Given the description of an element on the screen output the (x, y) to click on. 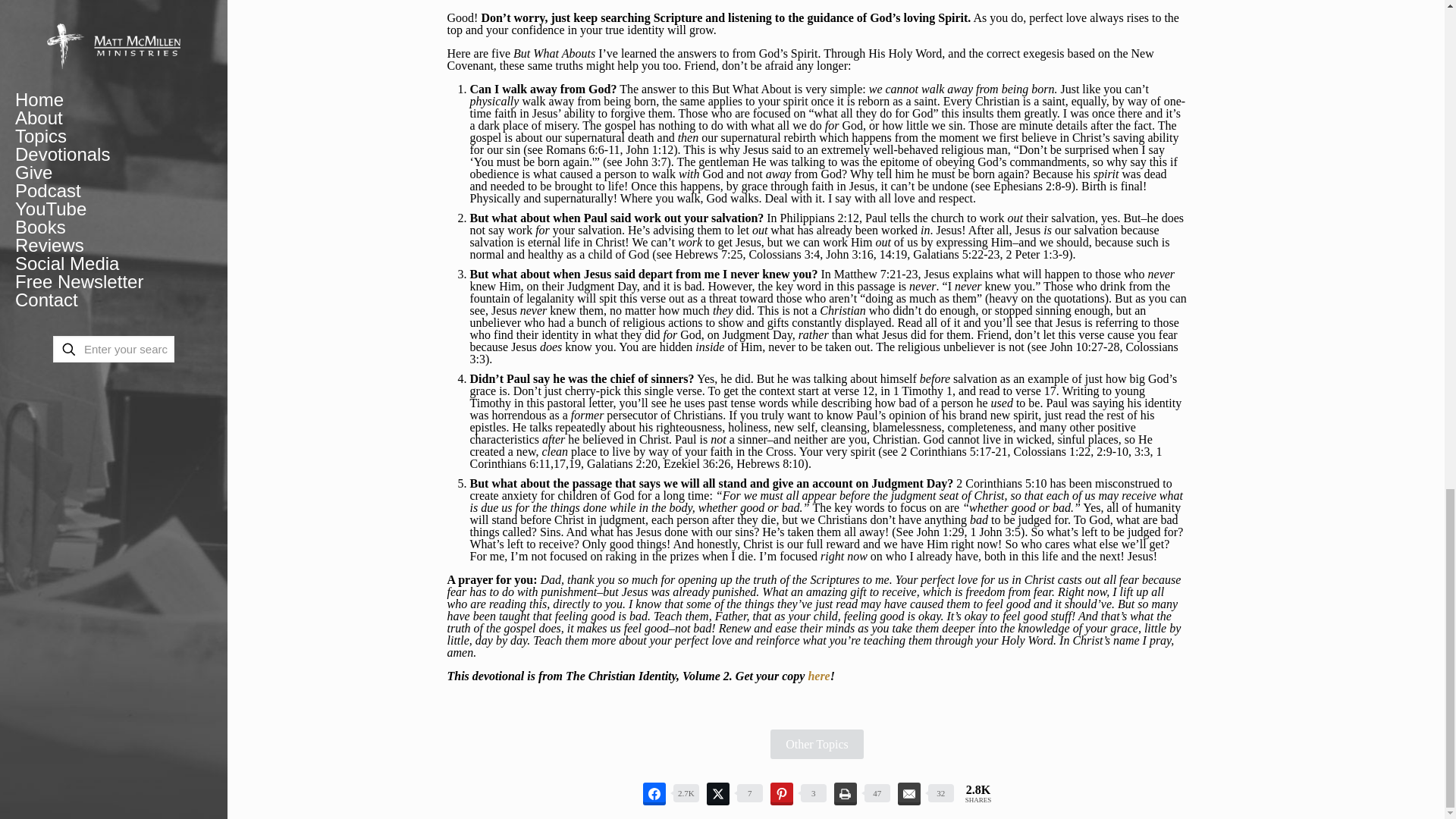
Share on Facebook (654, 793)
Share on Twitter (717, 793)
Share on Pinterest (781, 793)
Share on Print (845, 793)
Share on Email (909, 793)
here (818, 675)
Other Topics (816, 744)
